Given the description of an element on the screen output the (x, y) to click on. 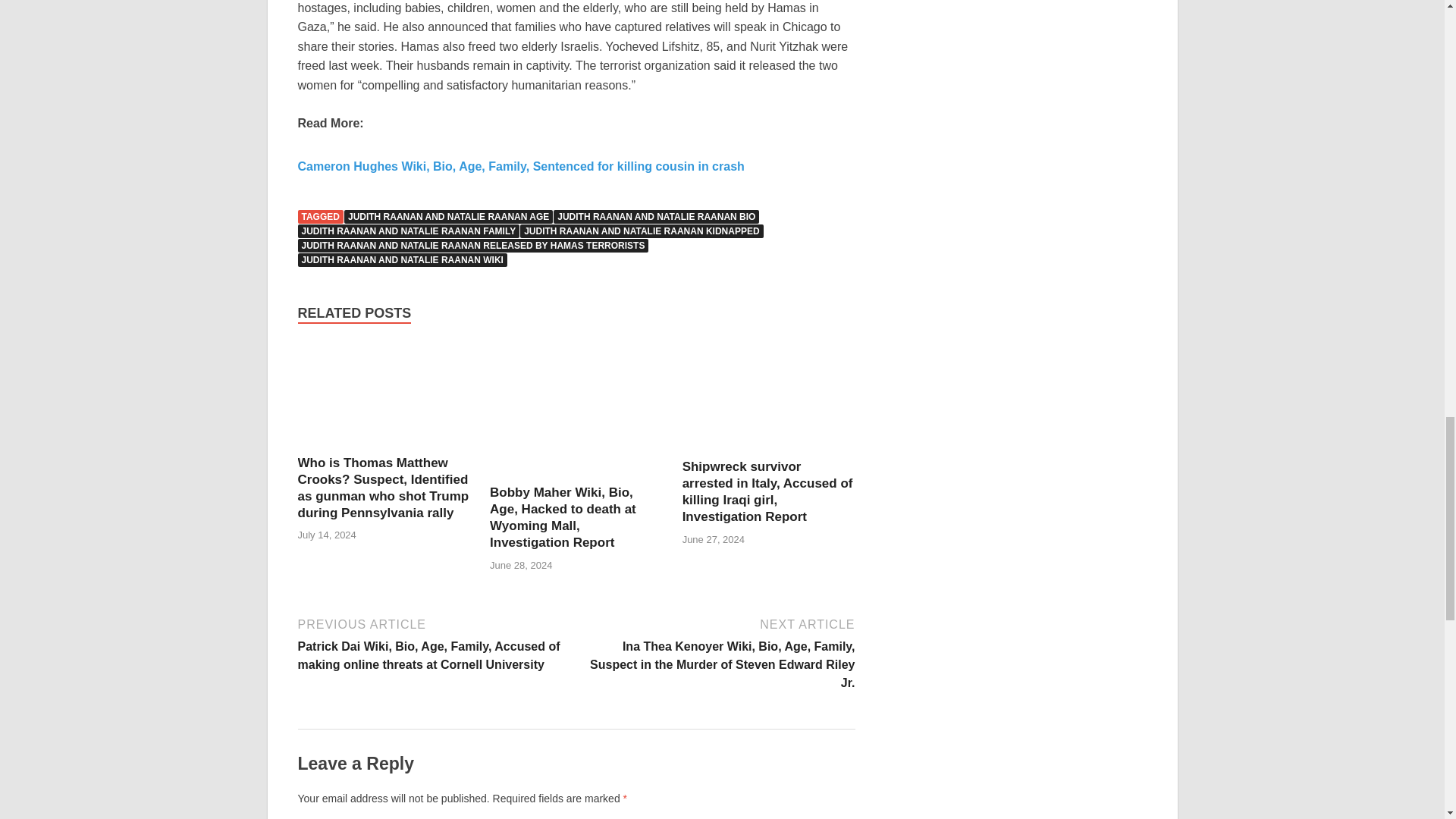
JUDITH RAANAN AND NATALIE RAANAN KIDNAPPED (640, 231)
JUDITH RAANAN AND NATALIE RAANAN BIO (655, 216)
JUDITH RAANAN AND NATALIE RAANAN AGE (448, 216)
JUDITH RAANAN AND NATALIE RAANAN FAMILY (408, 231)
